Given the description of an element on the screen output the (x, y) to click on. 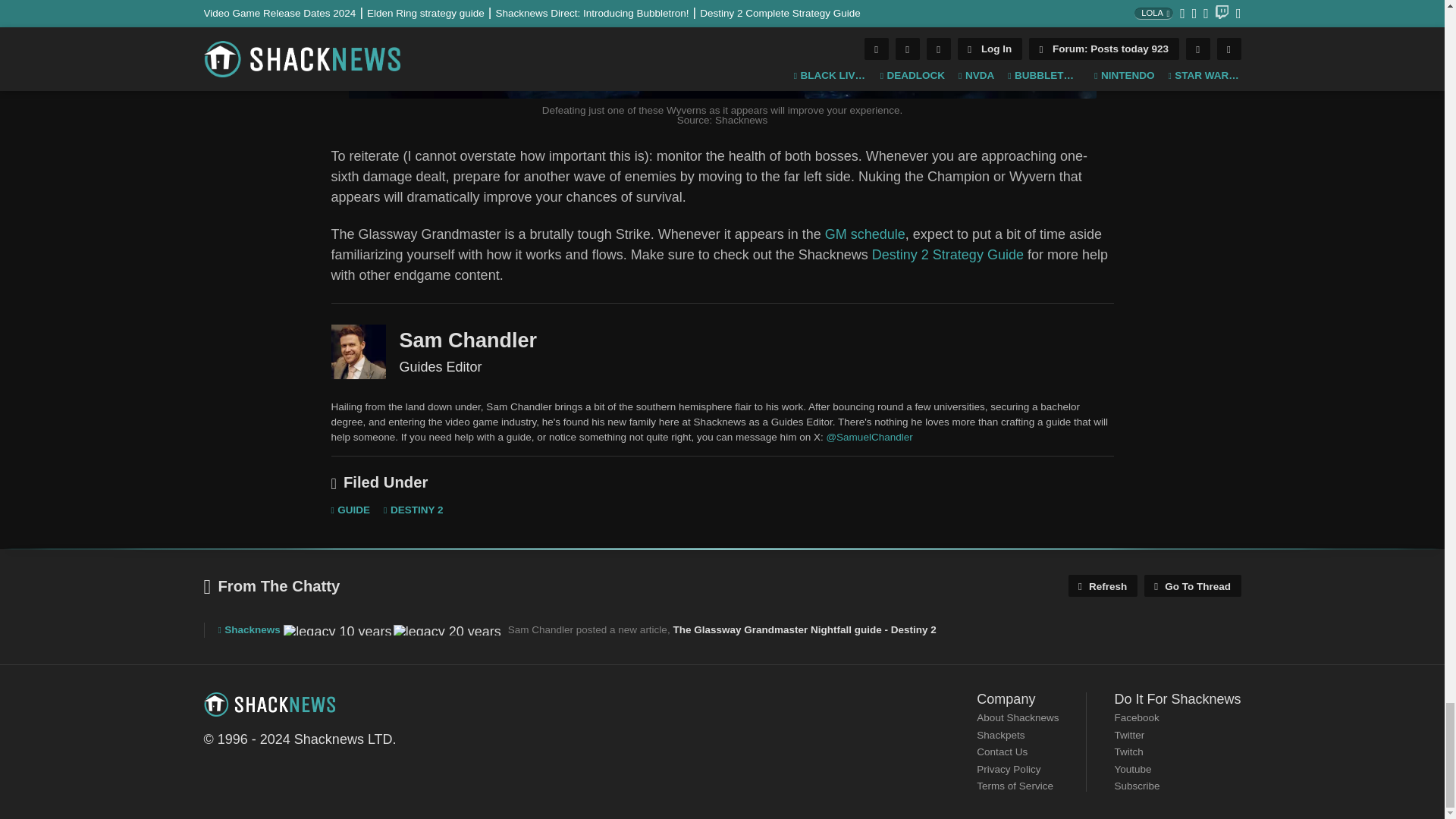
Destiny 2 Strategy Guide (947, 254)
Grandmaster Nightfall schedule (865, 233)
legacy 10 years (337, 629)
Guides Editor (357, 351)
legacy 20 years (446, 629)
